Given the description of an element on the screen output the (x, y) to click on. 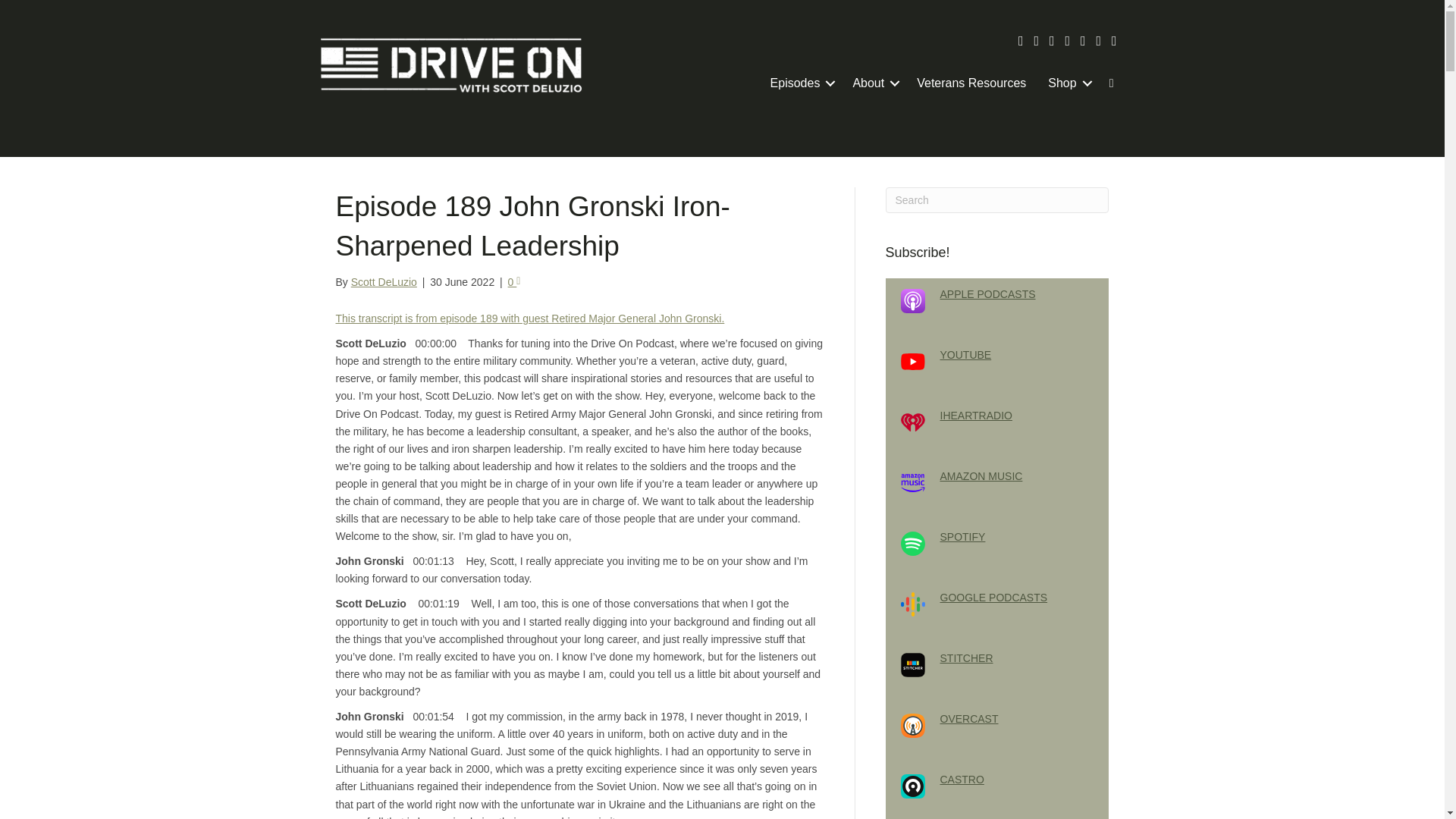
Episodes (800, 83)
0 (514, 282)
Veterans Resources (970, 83)
Drive On Podcast (450, 65)
Scott DeLuzio (383, 282)
Shop (1066, 83)
About (873, 83)
Type and press Enter to search. (997, 199)
